Given the description of an element on the screen output the (x, y) to click on. 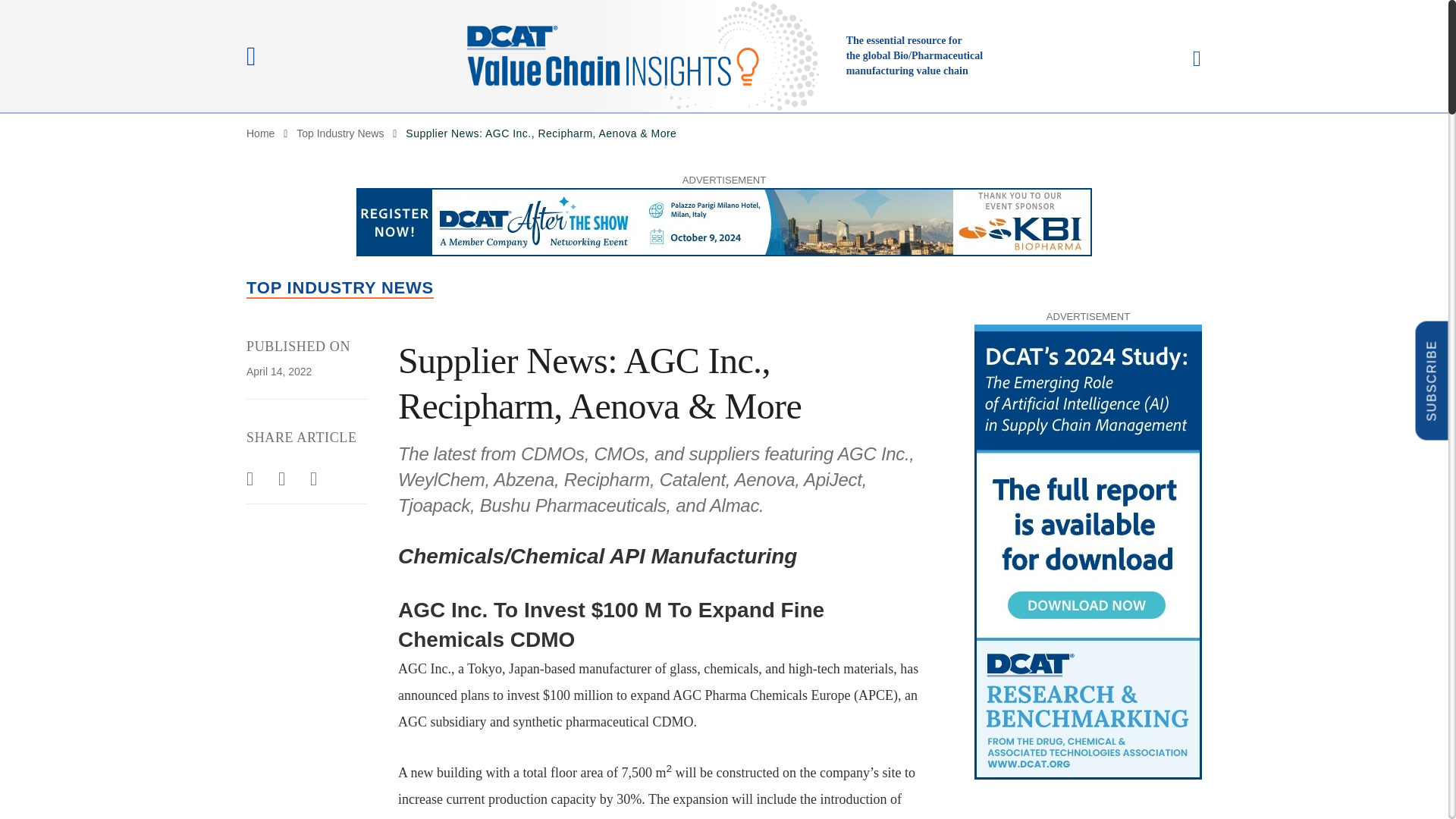
Home (260, 133)
Top Industry News (340, 133)
TOP INDUSTRY NEWS (339, 288)
